Given the description of an element on the screen output the (x, y) to click on. 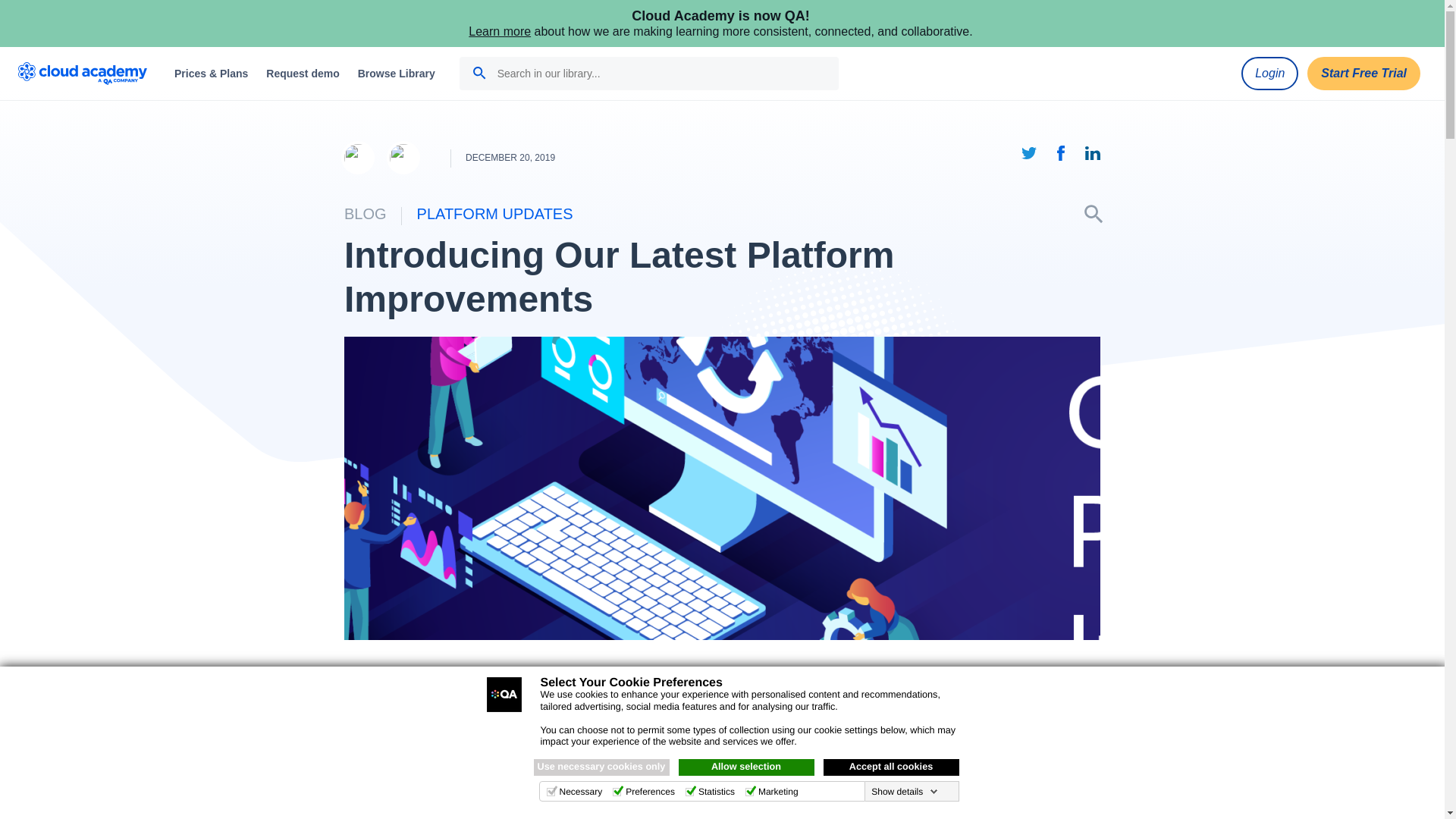
Show details (903, 791)
search (479, 72)
Accept all cookies (891, 767)
Use necessary cookies only (601, 767)
Allow selection (745, 767)
